Given the description of an element on the screen output the (x, y) to click on. 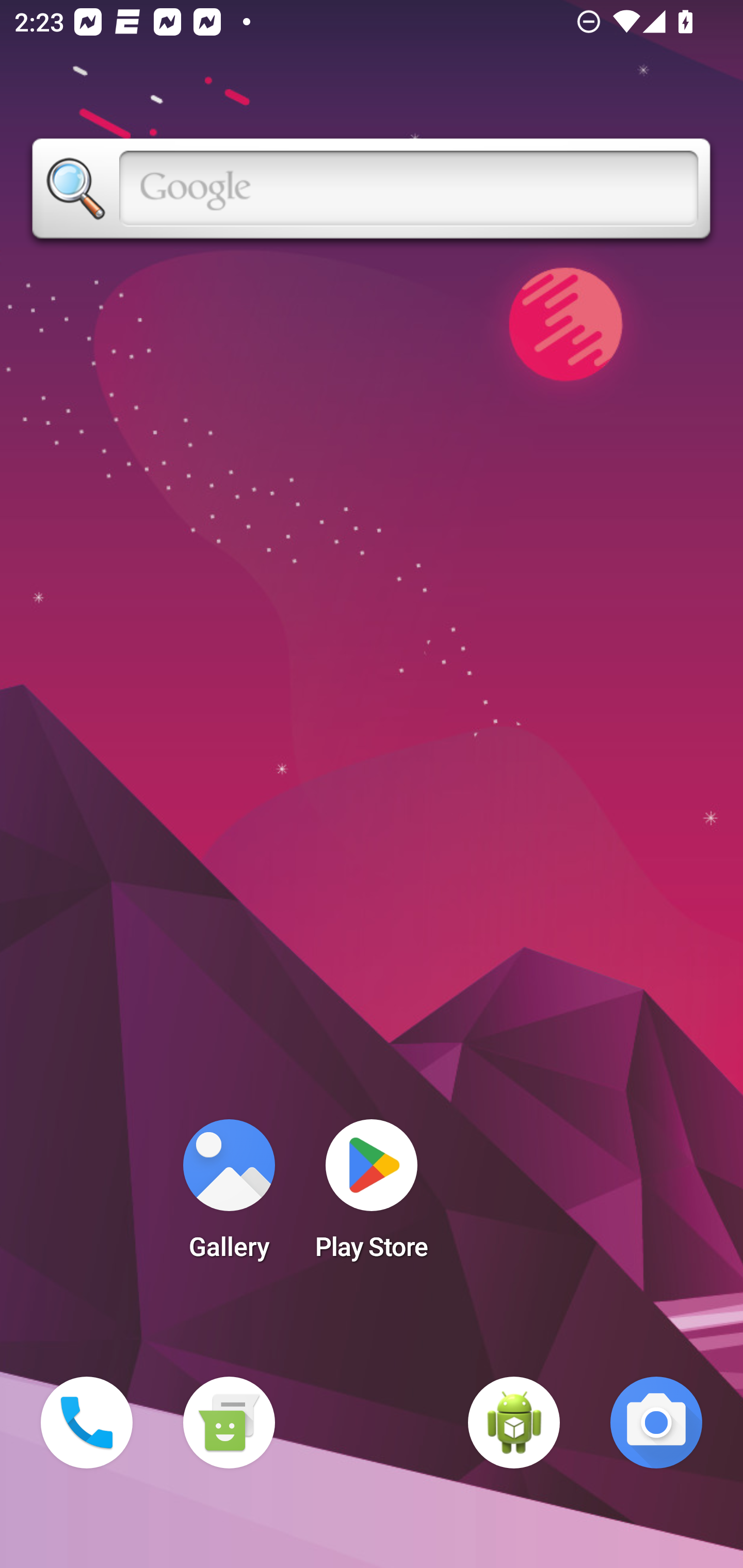
Gallery (228, 1195)
Play Store (371, 1195)
Phone (86, 1422)
Messaging (228, 1422)
WebView Browser Tester (513, 1422)
Camera (656, 1422)
